Given the description of an element on the screen output the (x, y) to click on. 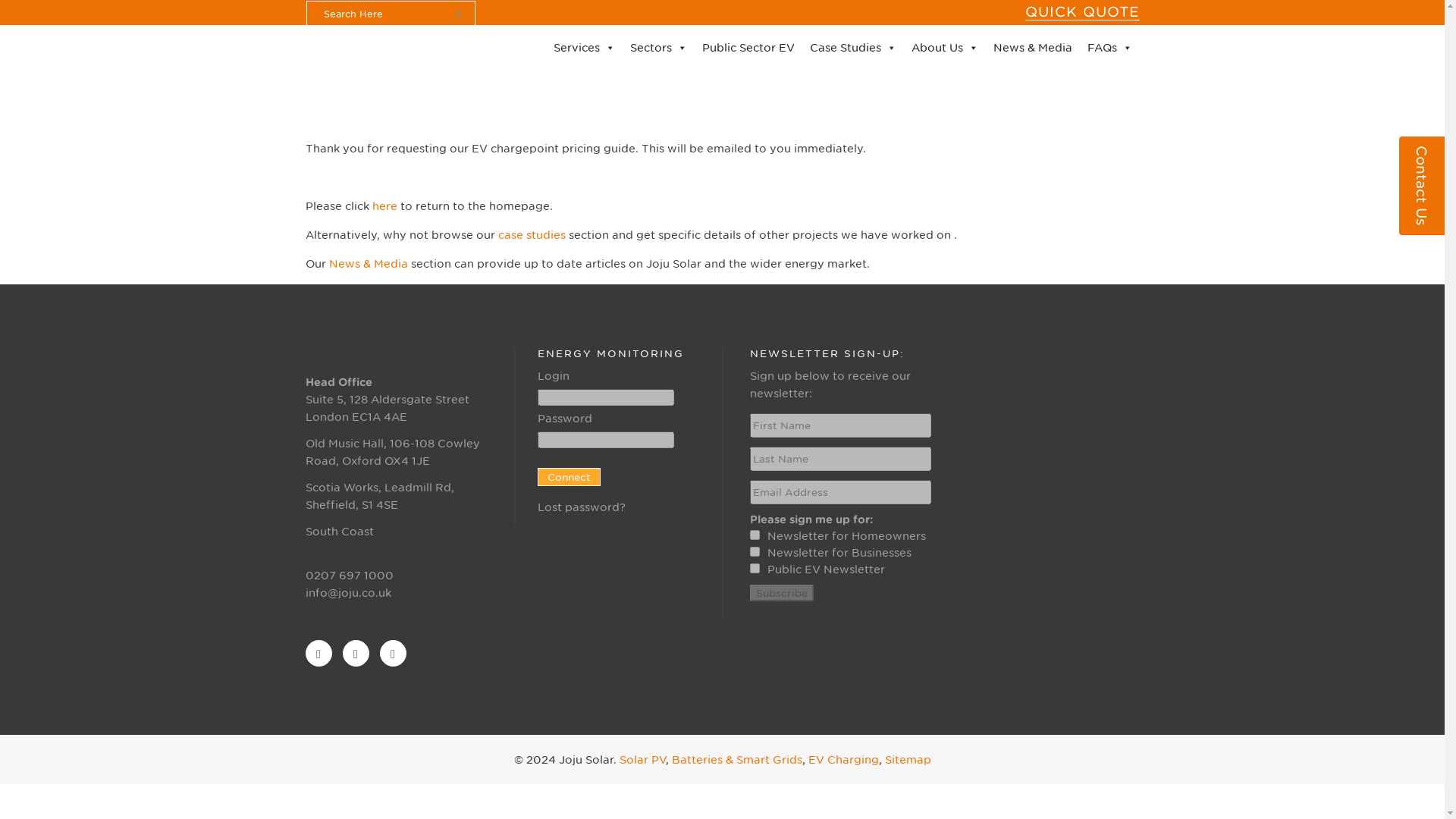
Sectors (657, 47)
Services (584, 47)
Subscribe (780, 592)
afbba73d1d (753, 534)
8ba1b74b8f (753, 551)
Services (584, 47)
0a93d1c5b6 (753, 568)
Connect (568, 476)
QUICK QUOTE (1082, 12)
